Given the description of an element on the screen output the (x, y) to click on. 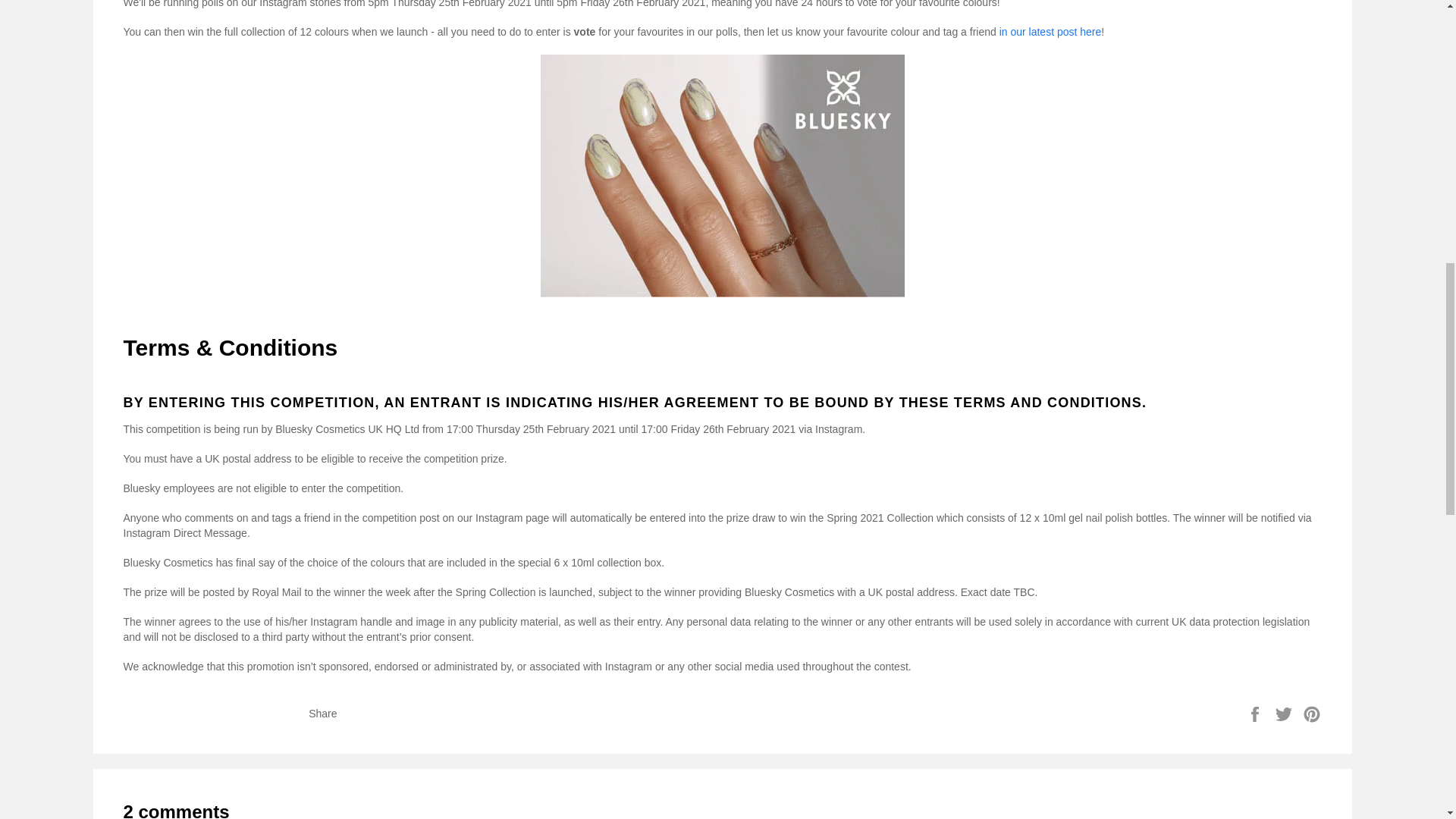
Bluesky Instagram (1050, 31)
Pin on Pinterest (1311, 713)
Tweet on Twitter (1285, 713)
Share on Facebook (1256, 713)
